Given the description of an element on the screen output the (x, y) to click on. 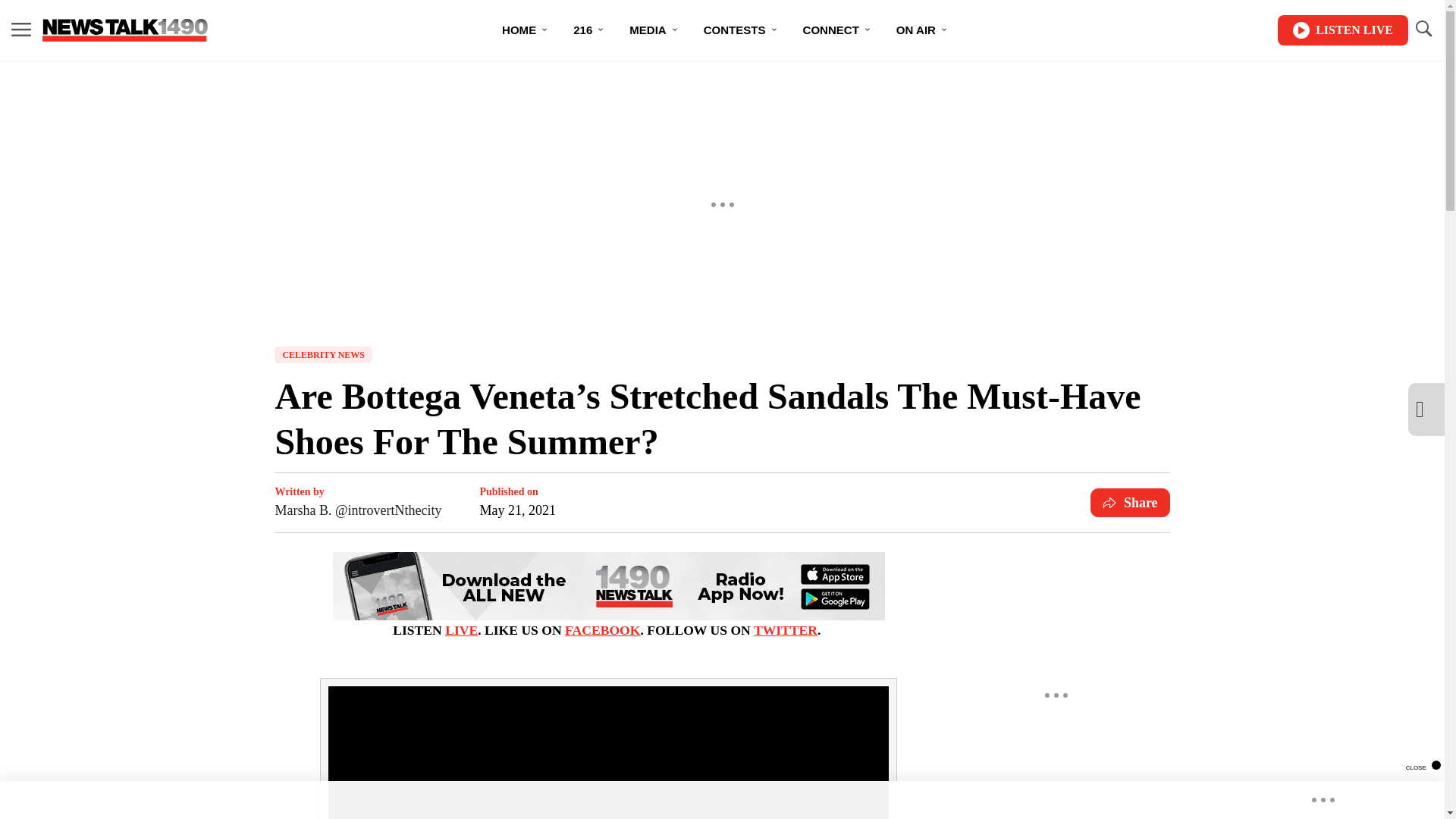
LIVE (461, 630)
FACEBOOK (602, 630)
CONTESTS (740, 30)
HOME (524, 30)
Share (1130, 502)
MENU (20, 29)
TOGGLE SEARCH (1422, 28)
ON AIR (921, 30)
TOGGLE SEARCH (1422, 30)
MENU (20, 30)
